Given the description of an element on the screen output the (x, y) to click on. 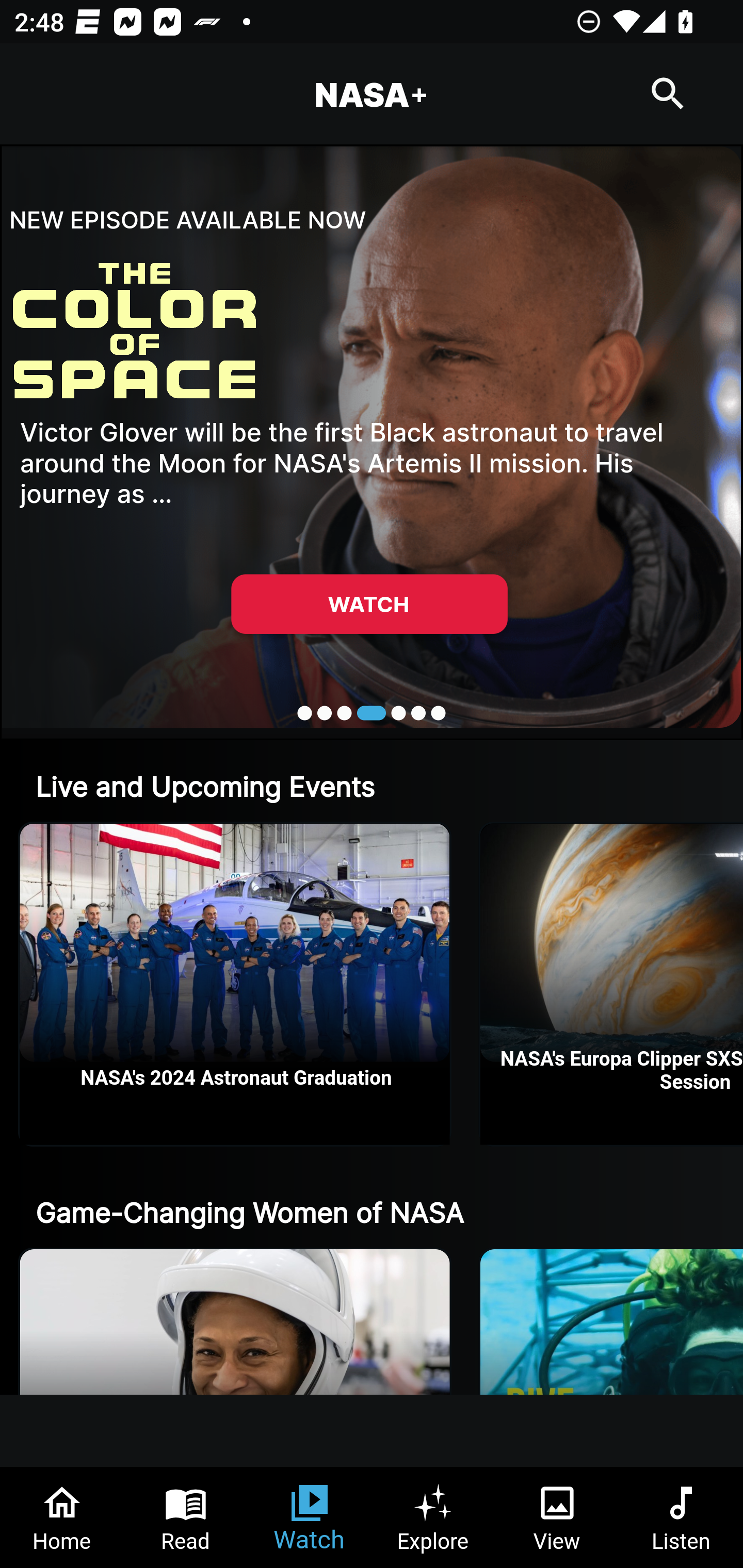
WATCH (369, 603)
NASA's 2024 Astronaut Graduation (235, 983)
NASA's Europa Clipper SXSW 2024 Opening Session (611, 983)
Home
Tab 1 of 6 (62, 1517)
Read
Tab 2 of 6 (185, 1517)
Watch
Tab 3 of 6 (309, 1517)
Explore
Tab 4 of 6 (433, 1517)
View
Tab 5 of 6 (556, 1517)
Listen
Tab 6 of 6 (680, 1517)
